Given the description of an element on the screen output the (x, y) to click on. 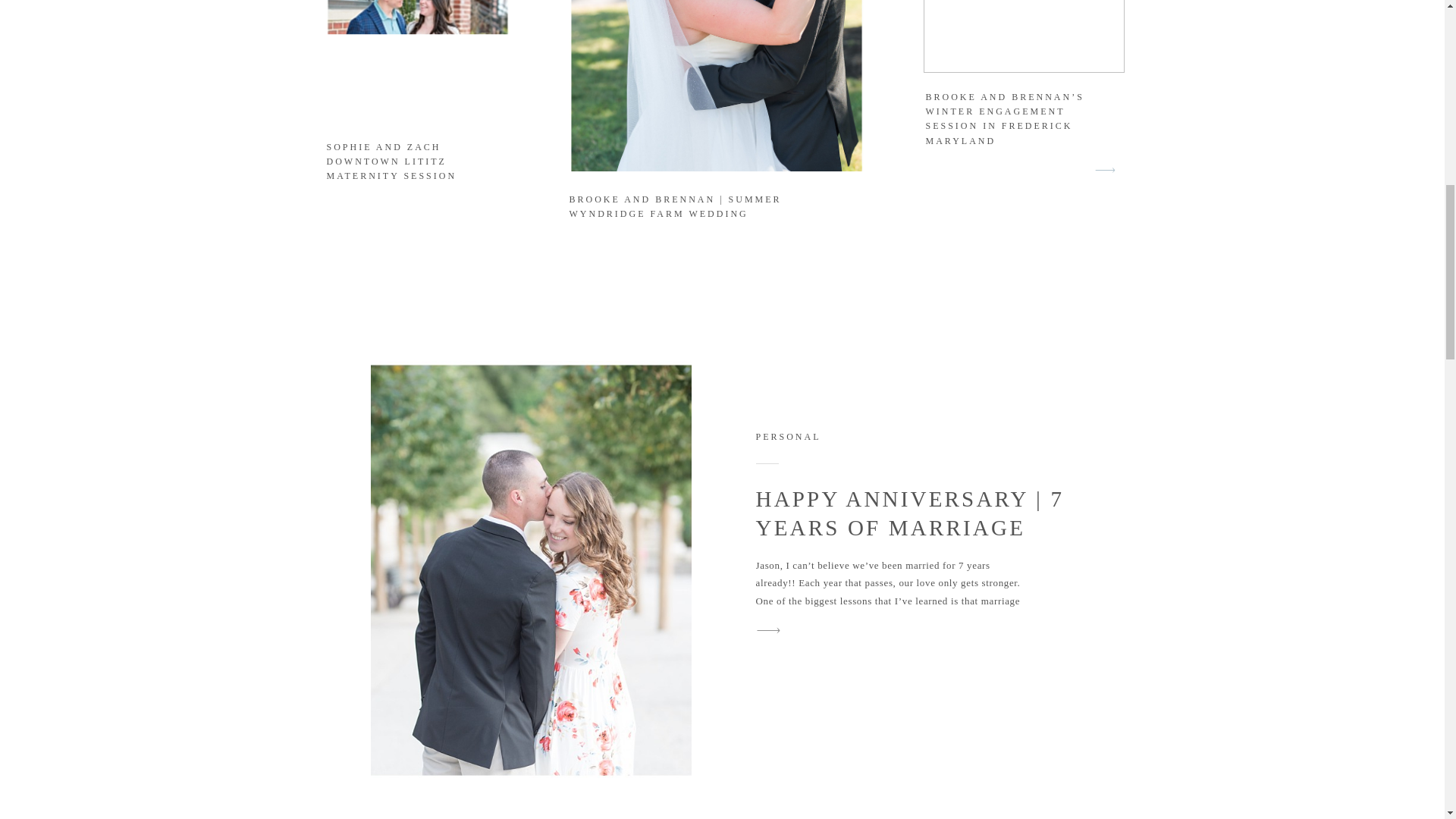
arrow (1104, 170)
SOPHIE AND ZACH DOWNTOWN LITITZ MATERNITY SESSION (391, 160)
arrow (1104, 170)
arrow (768, 630)
Sophie and Zach Downtown Lititz maternity session (417, 59)
arrow (768, 630)
PERSONAL (788, 436)
